Given the description of an element on the screen output the (x, y) to click on. 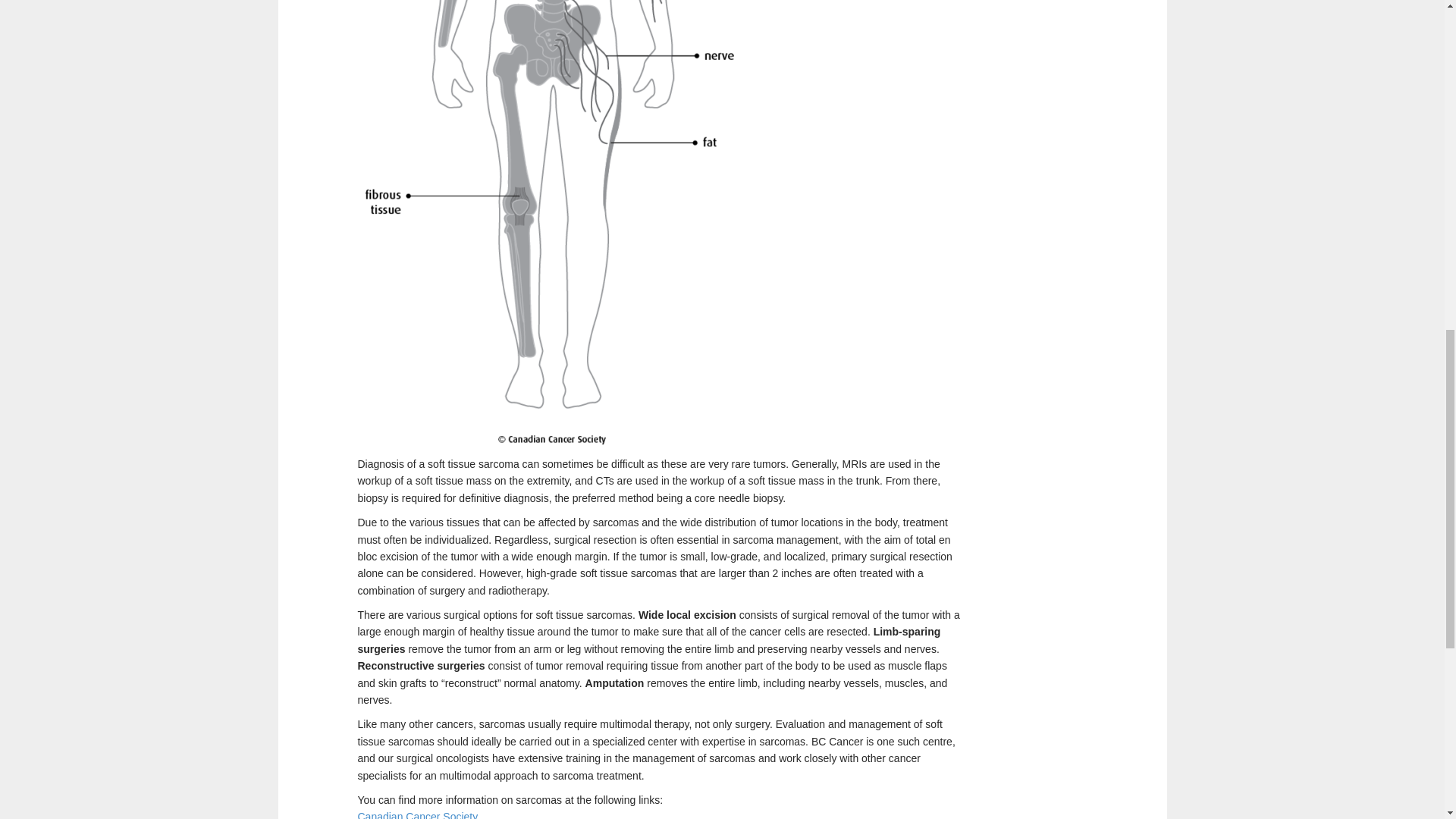
Canadian Cancer Society (418, 814)
